Given the description of an element on the screen output the (x, y) to click on. 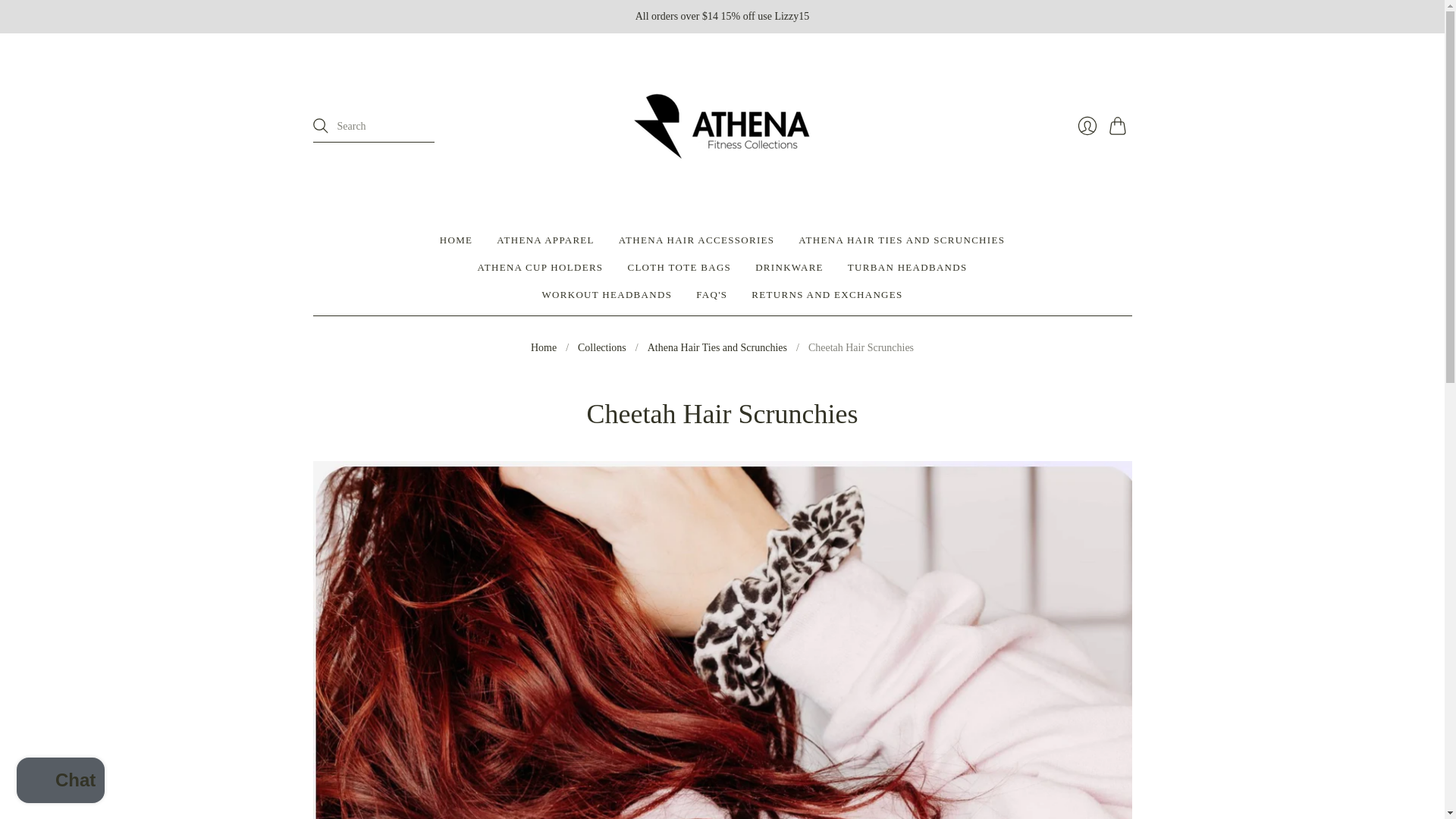
CLOTH TOTE BAGS (678, 267)
ATHENA CUP HOLDERS (539, 267)
Collections (602, 347)
TURBAN HEADBANDS (907, 267)
DRINKWARE (789, 267)
HOME (455, 239)
WORKOUT HEADBANDS (606, 294)
RETURNS AND EXCHANGES (826, 294)
Login (1086, 125)
ATHENA APPAREL (545, 239)
